Given the description of an element on the screen output the (x, y) to click on. 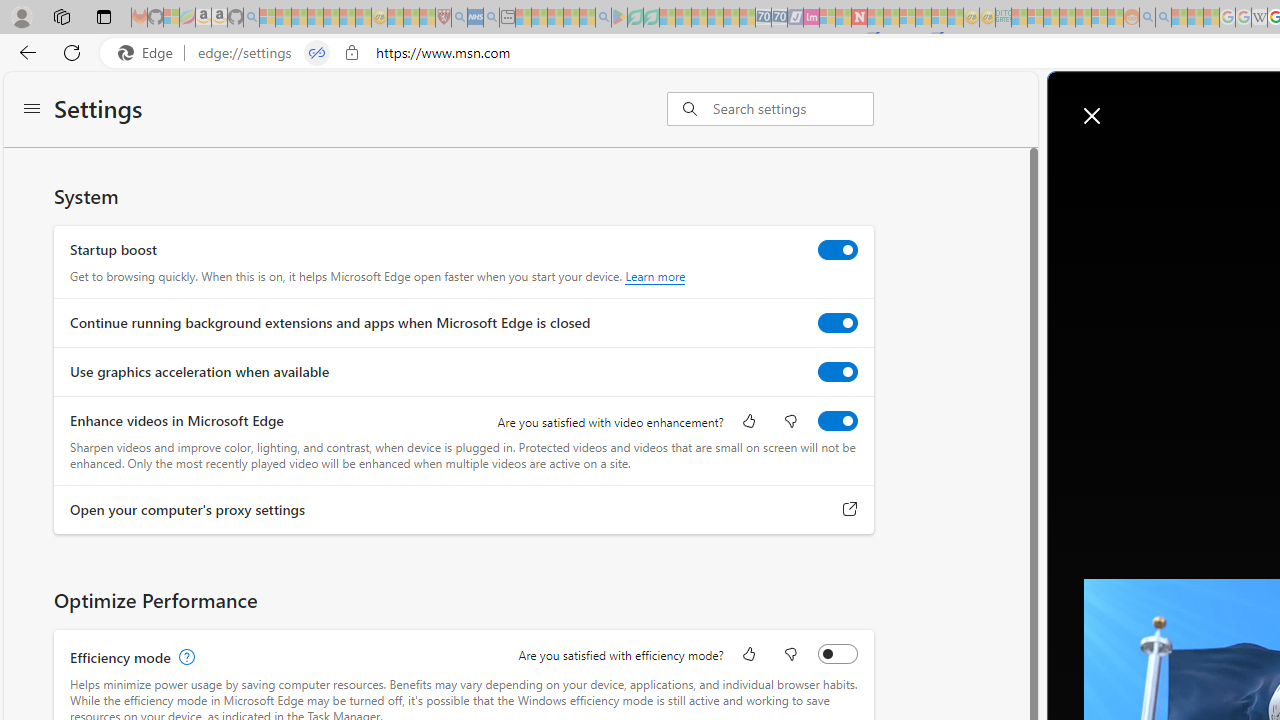
Use graphics acceleration when available (837, 372)
Latest Politics News & Archive | Newsweek.com - Sleeping (859, 17)
Edge (150, 53)
